Given the description of an element on the screen output the (x, y) to click on. 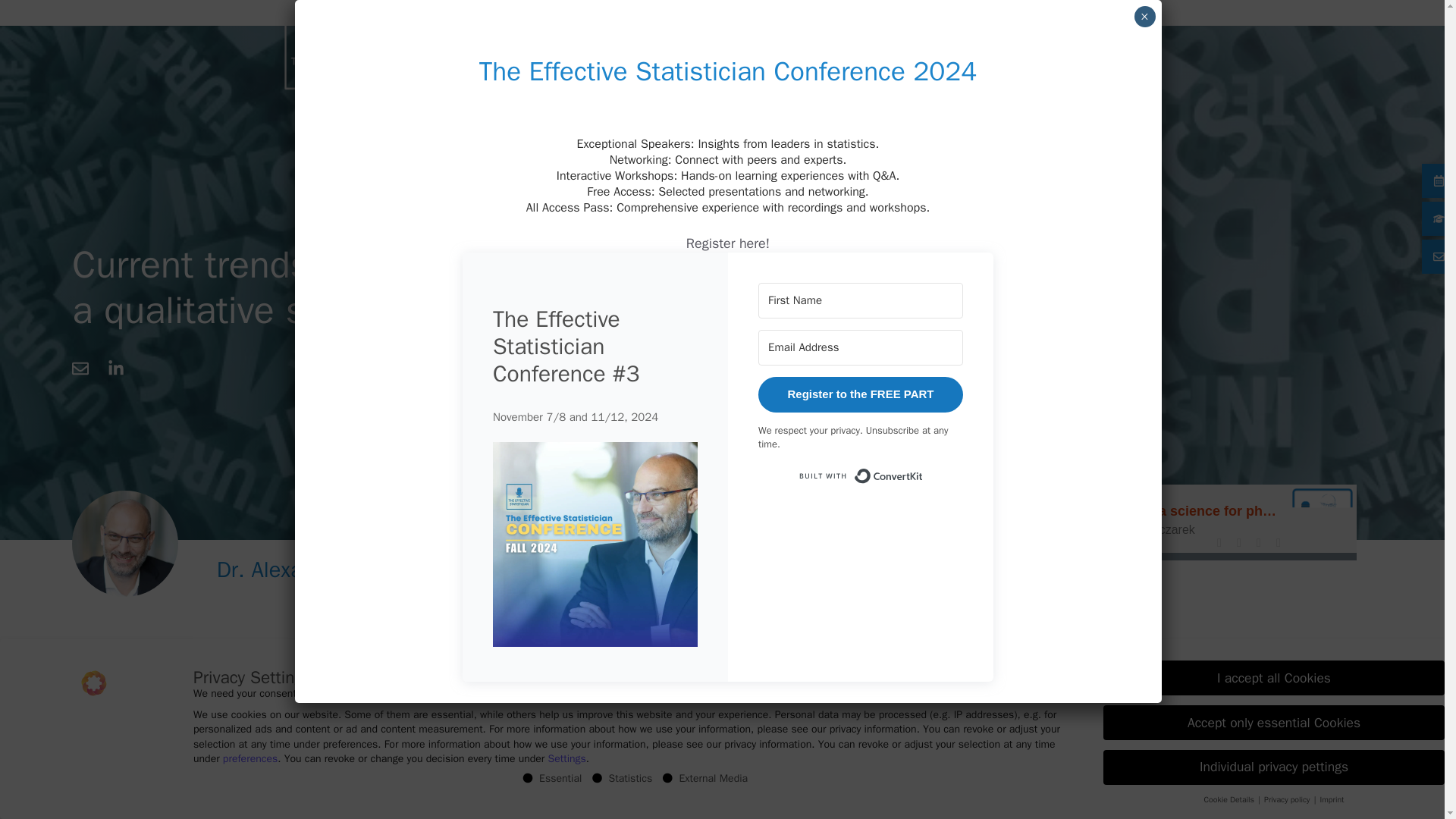
Ursula (227, 774)
Podcast (1154, 522)
All Episodes (1006, 591)
Cytel  (293, 774)
Be a guest on the podcast (942, 49)
Dr. Alexander Schacht (322, 569)
All Episodes (1006, 591)
Cytel (293, 774)
Ursula  (227, 774)
Menu (1122, 49)
